Given the description of an element on the screen output the (x, y) to click on. 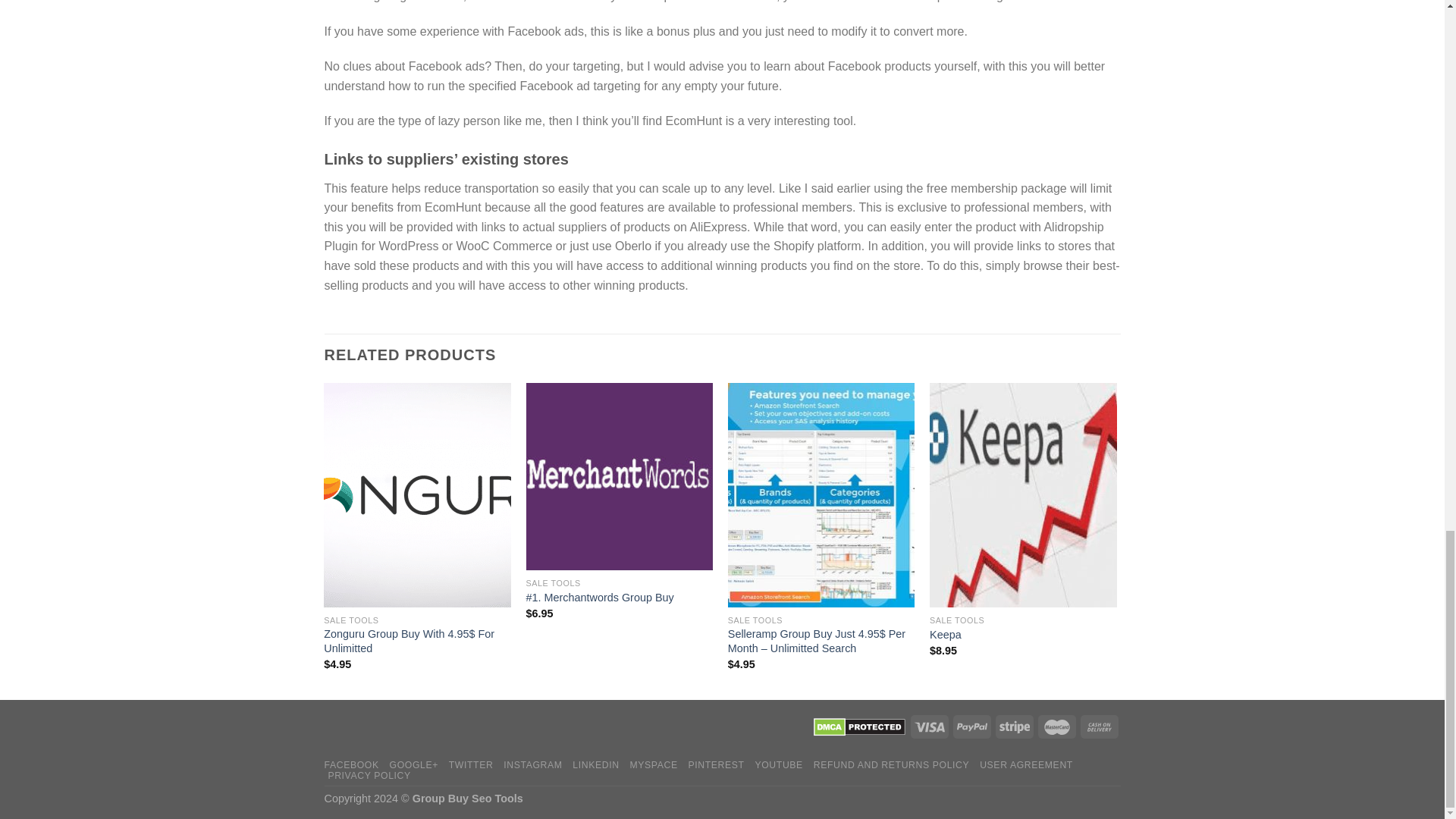
DMCA.com Protection Status (858, 725)
